Given the description of an element on the screen output the (x, y) to click on. 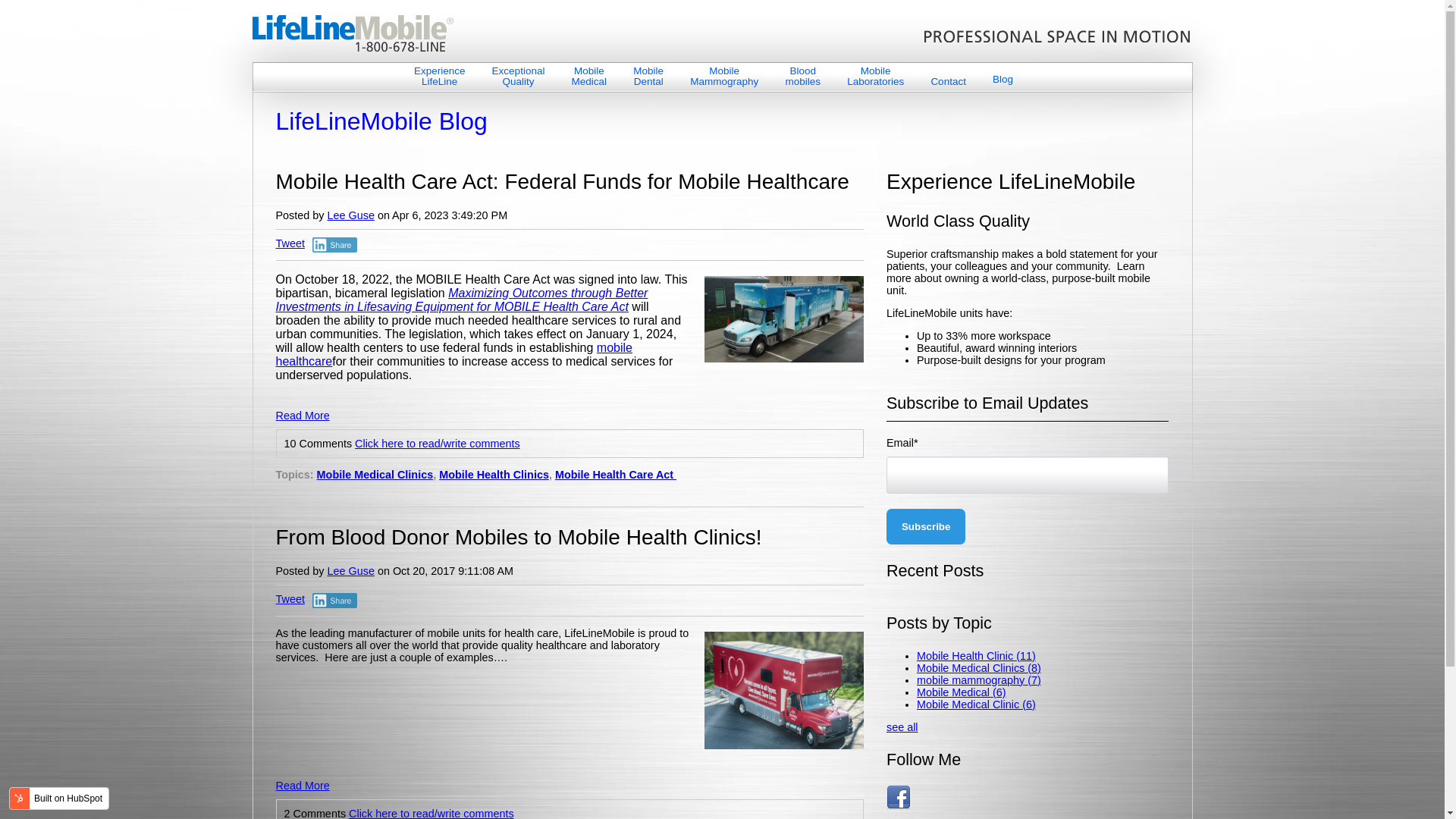
Tweet (290, 243)
Read More (303, 777)
mobile healthcare (518, 76)
Tweet (454, 354)
Mobile Health Care Act  (290, 598)
Subscribe (615, 474)
Lee Guse (925, 526)
Mobile Health Care Act: Federal Funds for Mobile Healthcare (648, 76)
Read More (724, 76)
Lee Guse (589, 76)
Mobile Health Clinics (350, 215)
